Given the description of an element on the screen output the (x, y) to click on. 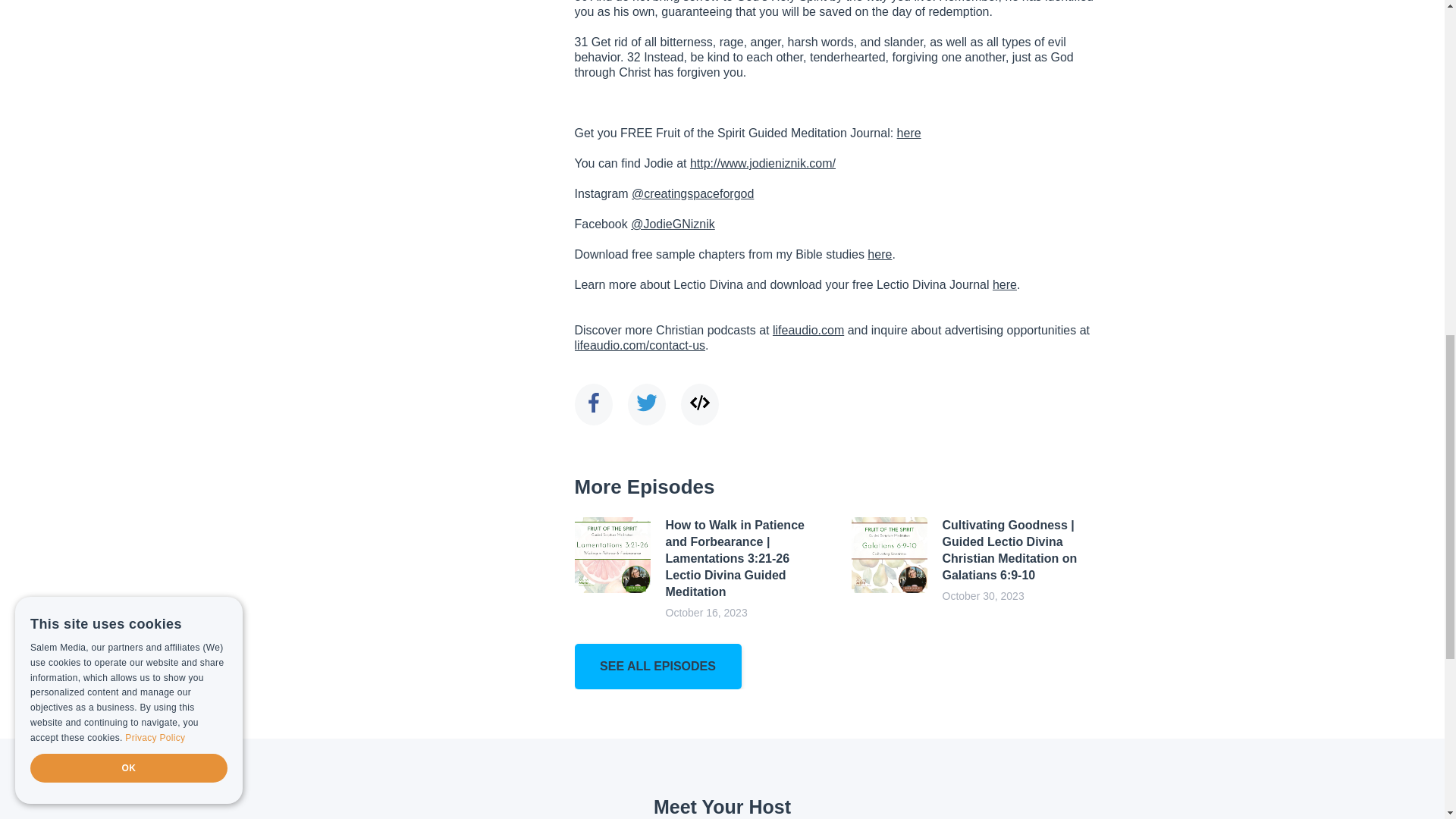
here (908, 132)
here (1004, 284)
here (879, 254)
SEE ALL EPISODES (658, 666)
lifeaudio.com (808, 329)
